Given the description of an element on the screen output the (x, y) to click on. 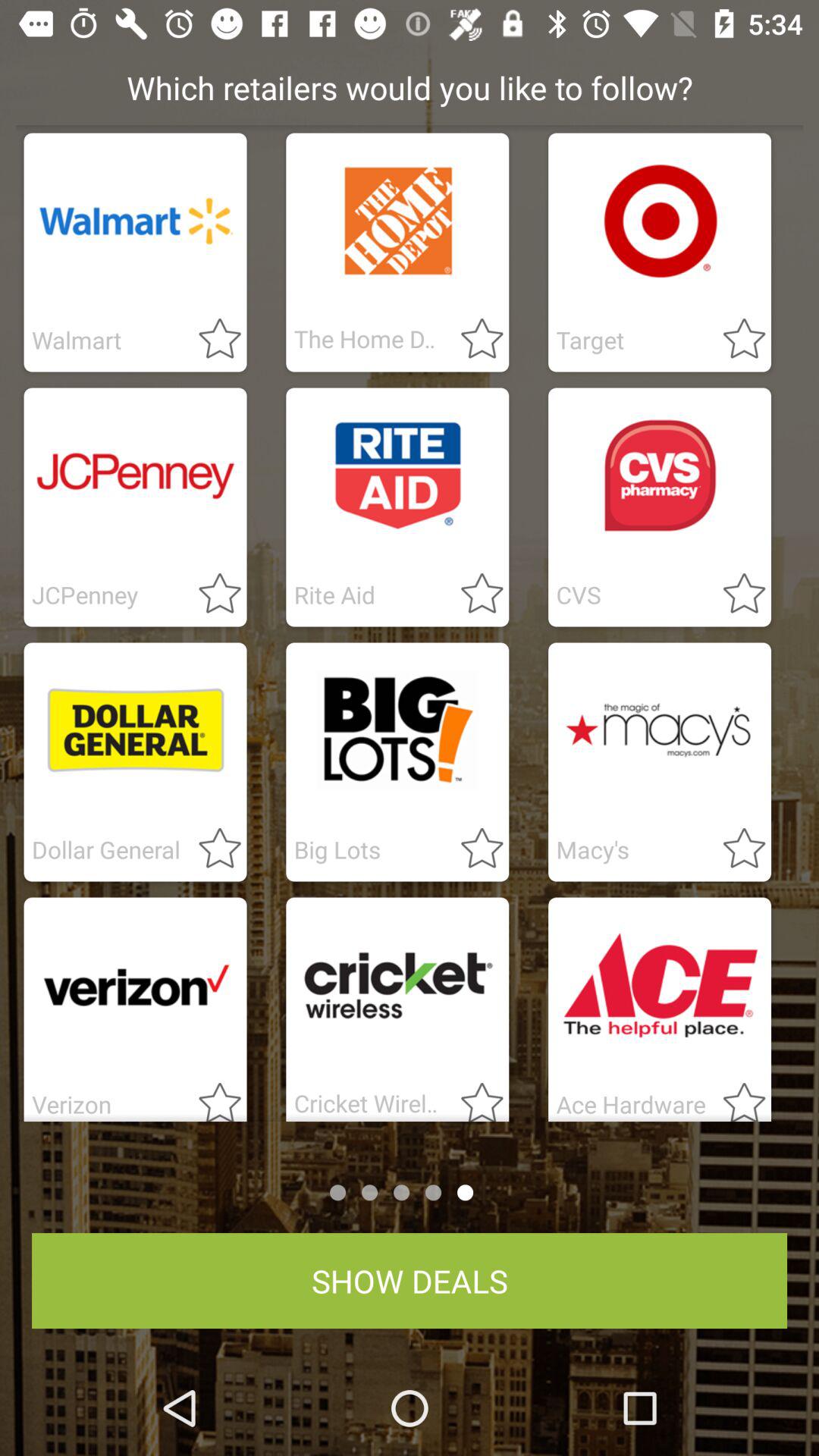
saves element to favorites (735, 594)
